Given the description of an element on the screen output the (x, y) to click on. 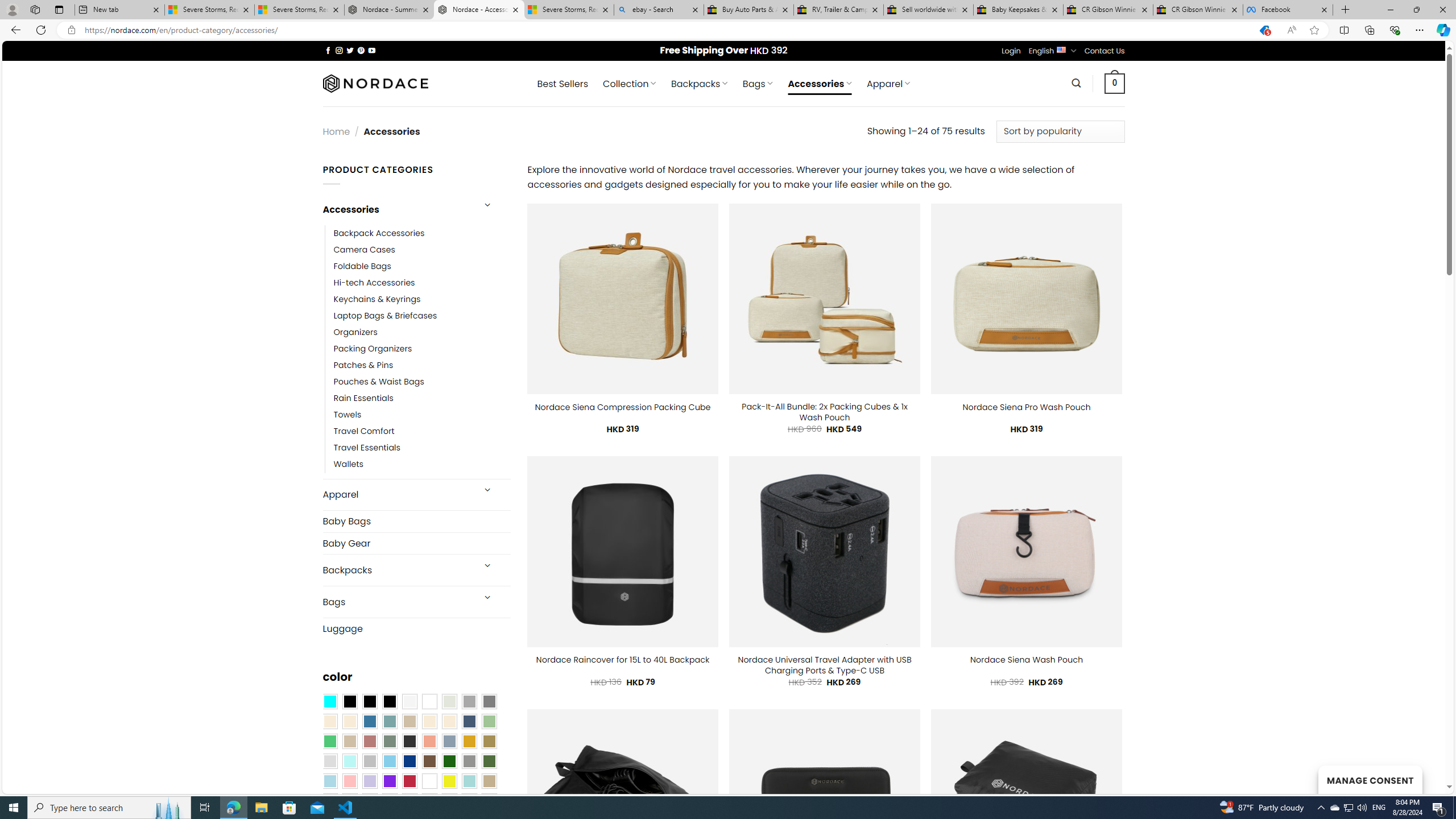
Backpack Accessories (422, 232)
All Black (349, 701)
Shop order (1060, 131)
Hi-tech Accessories (422, 282)
Luggage (416, 627)
Light Purple (369, 780)
Khaki (488, 780)
Towels (422, 415)
Yellow (449, 780)
Hale Navy (468, 721)
